Given the description of an element on the screen output the (x, y) to click on. 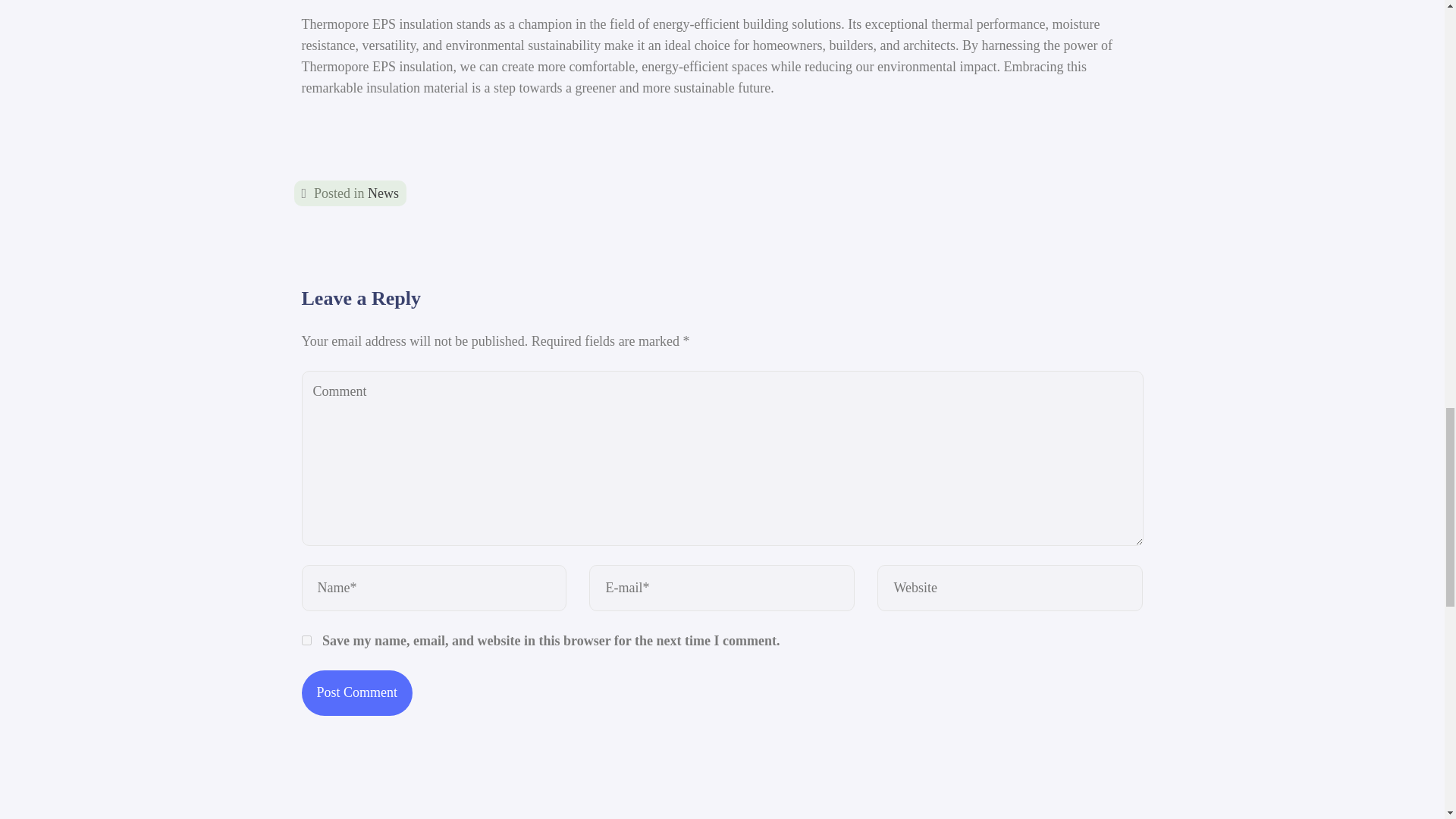
yes (306, 640)
Post Comment (357, 692)
News (383, 192)
Post Comment (357, 692)
